Given the description of an element on the screen output the (x, y) to click on. 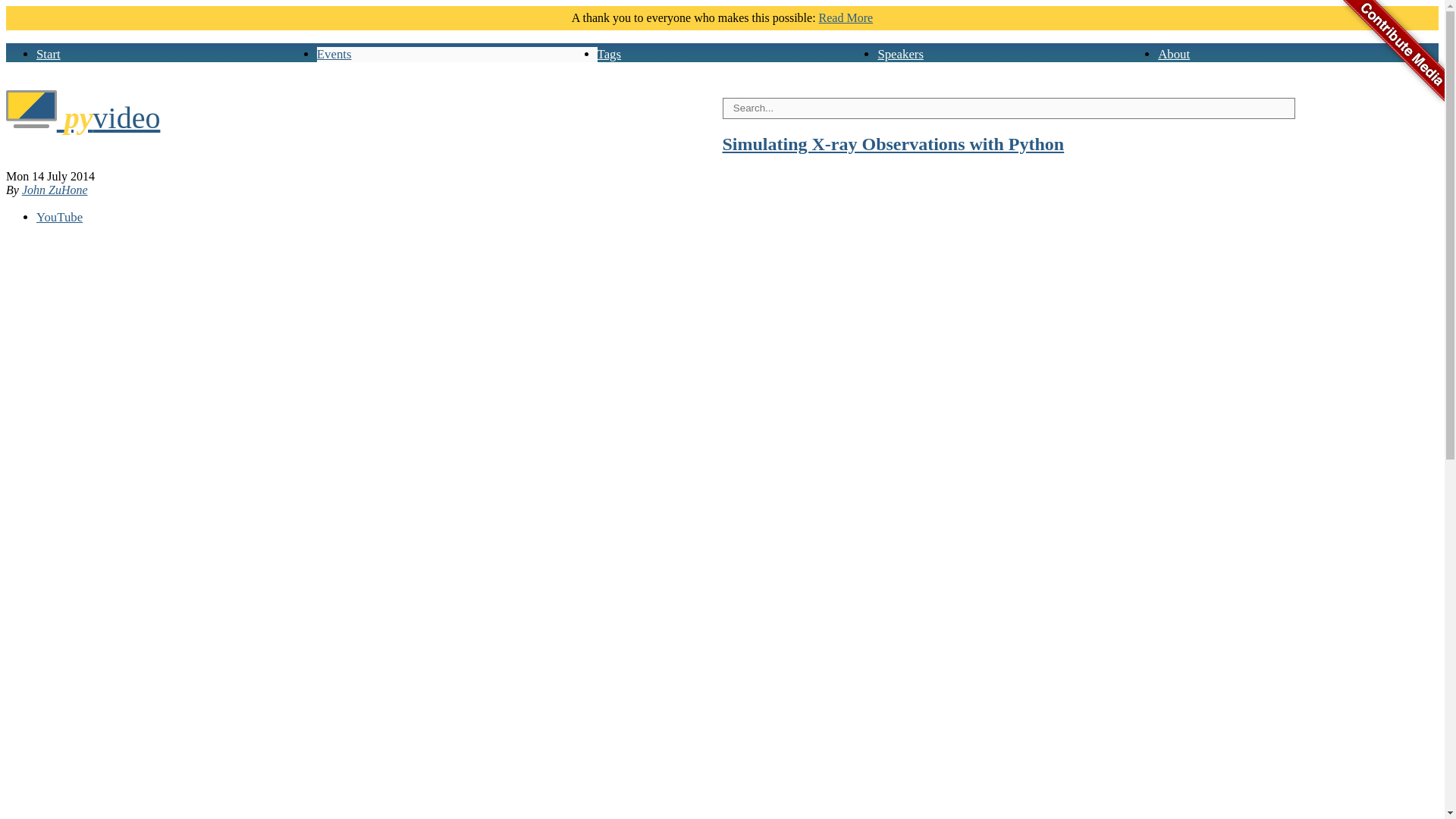
Events (334, 53)
About (1173, 53)
Simulating X-ray Observations with Python (893, 143)
Tags (608, 53)
Start (48, 53)
Permalink to Simulating X-ray Observations with Python (893, 143)
YouTube (59, 216)
pyvideo (82, 117)
Read More (845, 17)
Speakers (900, 53)
John ZuHone (54, 189)
